Given the description of an element on the screen output the (x, y) to click on. 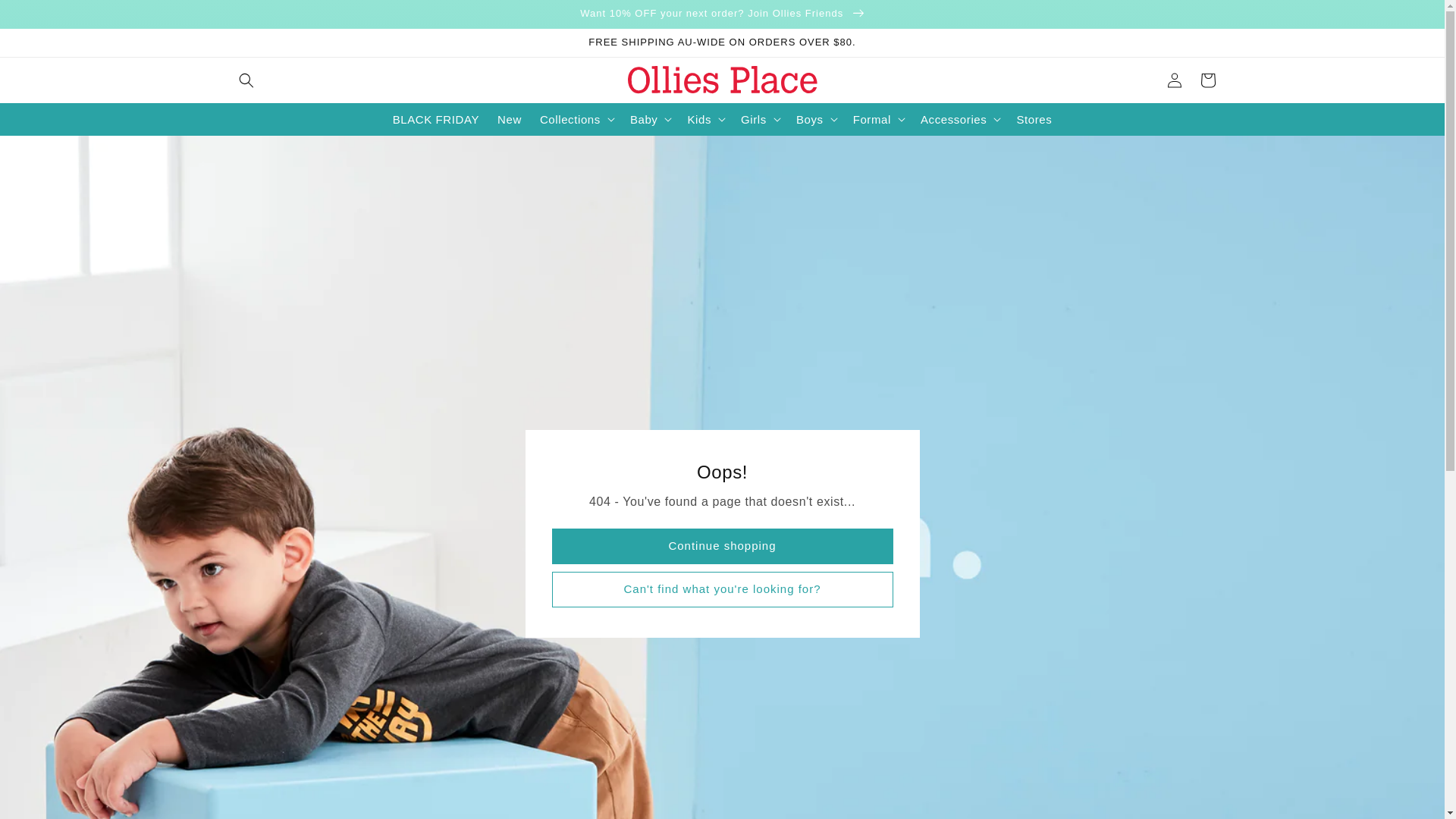
New Element type: text (509, 119)
Continue shopping Element type: text (722, 546)
Cart Element type: text (1206, 80)
Log in Element type: text (1173, 80)
Can't find what you're looking for? Element type: text (722, 589)
Want 10% OFF your next order? Join Ollies Friends Element type: text (722, 14)
BLACK FRIDAY Element type: text (435, 119)
Stores Element type: text (1033, 119)
